Given the description of an element on the screen output the (x, y) to click on. 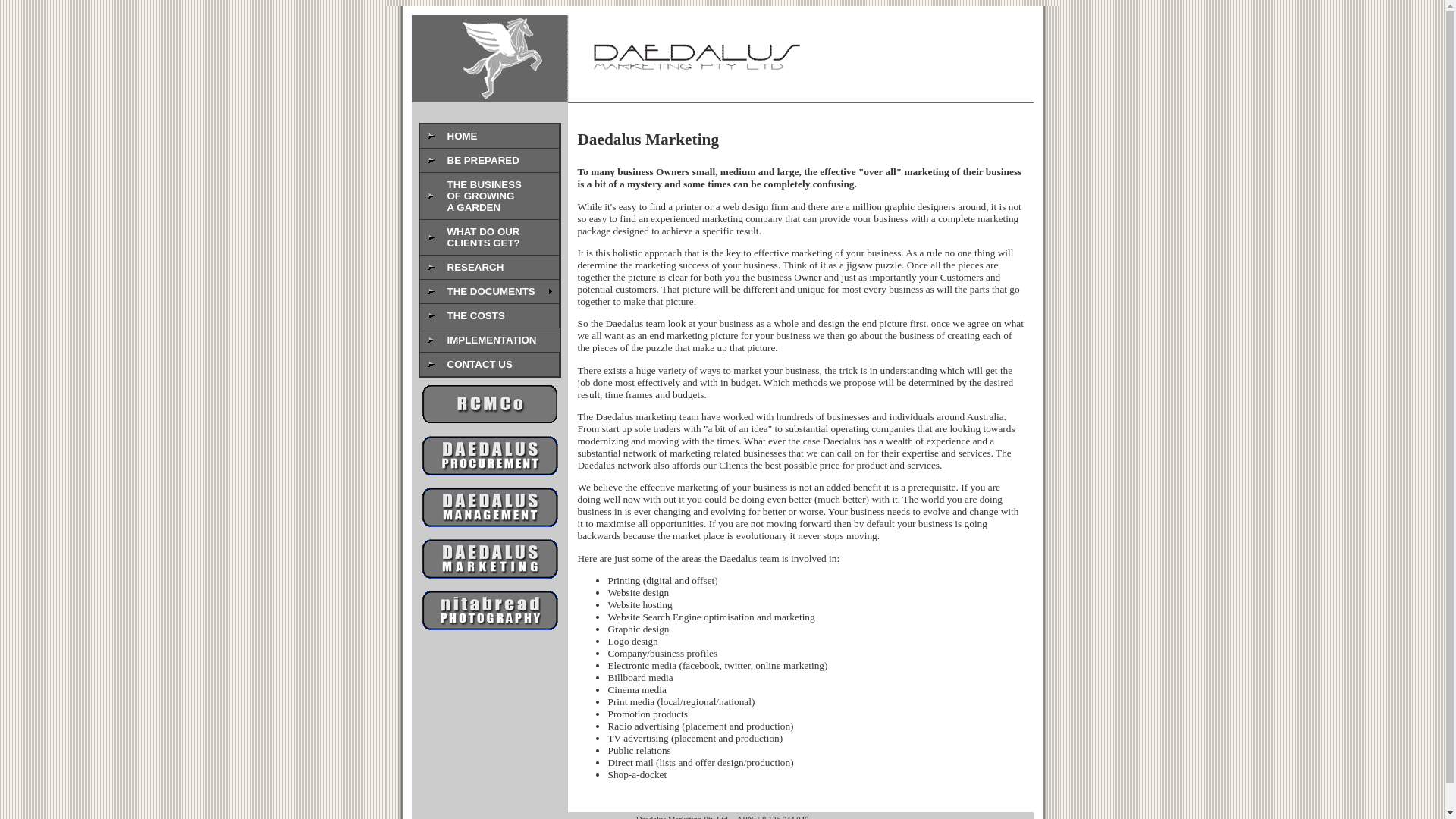
BE PREPARED Element type: text (490, 160)
WHAT DO OUR
CLIENTS GET? Element type: text (490, 236)
HOME Element type: text (490, 135)
THE BUSINESS 
OF GROWING 
A GARDEN Element type: text (490, 195)
RESEARCH Element type: text (490, 267)
THE COSTS Element type: text (490, 315)
CONTACT US Element type: text (490, 364)
THE DOCUMENTS Element type: text (490, 291)
IMPLEMENTATION Element type: text (490, 339)
